Given the description of an element on the screen output the (x, y) to click on. 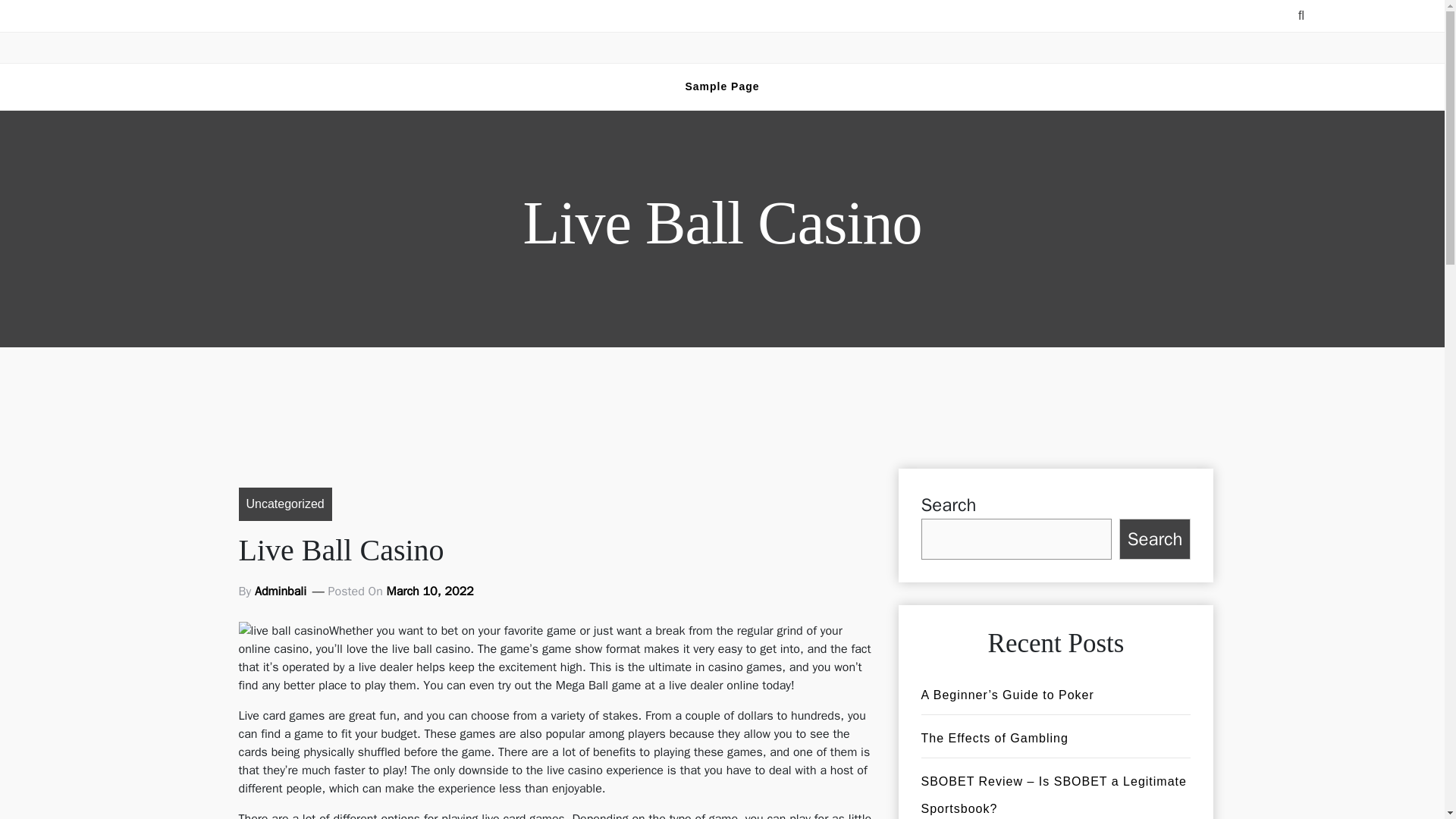
The Effects of Gambling (993, 738)
Search (1155, 538)
Adminbali (279, 591)
Uncategorized (284, 503)
Sample Page (721, 86)
